Given the description of an element on the screen output the (x, y) to click on. 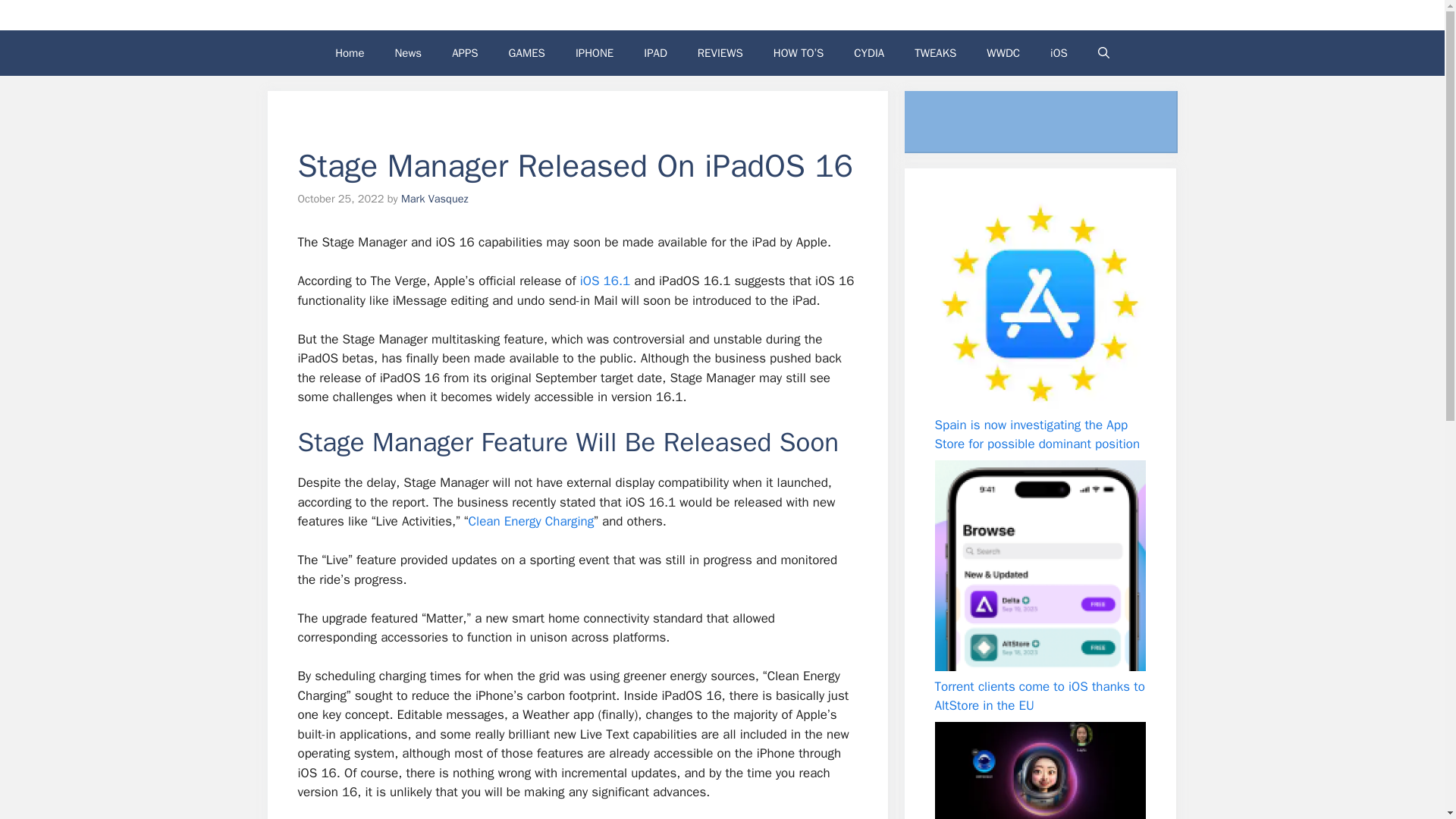
IPHONE (594, 53)
Mark Vasquez (434, 198)
iOS (1059, 53)
iOS 16.1 (603, 280)
APPS (464, 53)
REVIEWS (720, 53)
iOS 18 will use Apple Intelligence to create playlist covers (1039, 770)
Clean Energy Charging (531, 521)
TWEAKS (935, 53)
IPAD (655, 53)
Torrent clients come to iOS thanks to AltStore in the EU (1039, 695)
GAMES (526, 53)
News (407, 53)
